Given the description of an element on the screen output the (x, y) to click on. 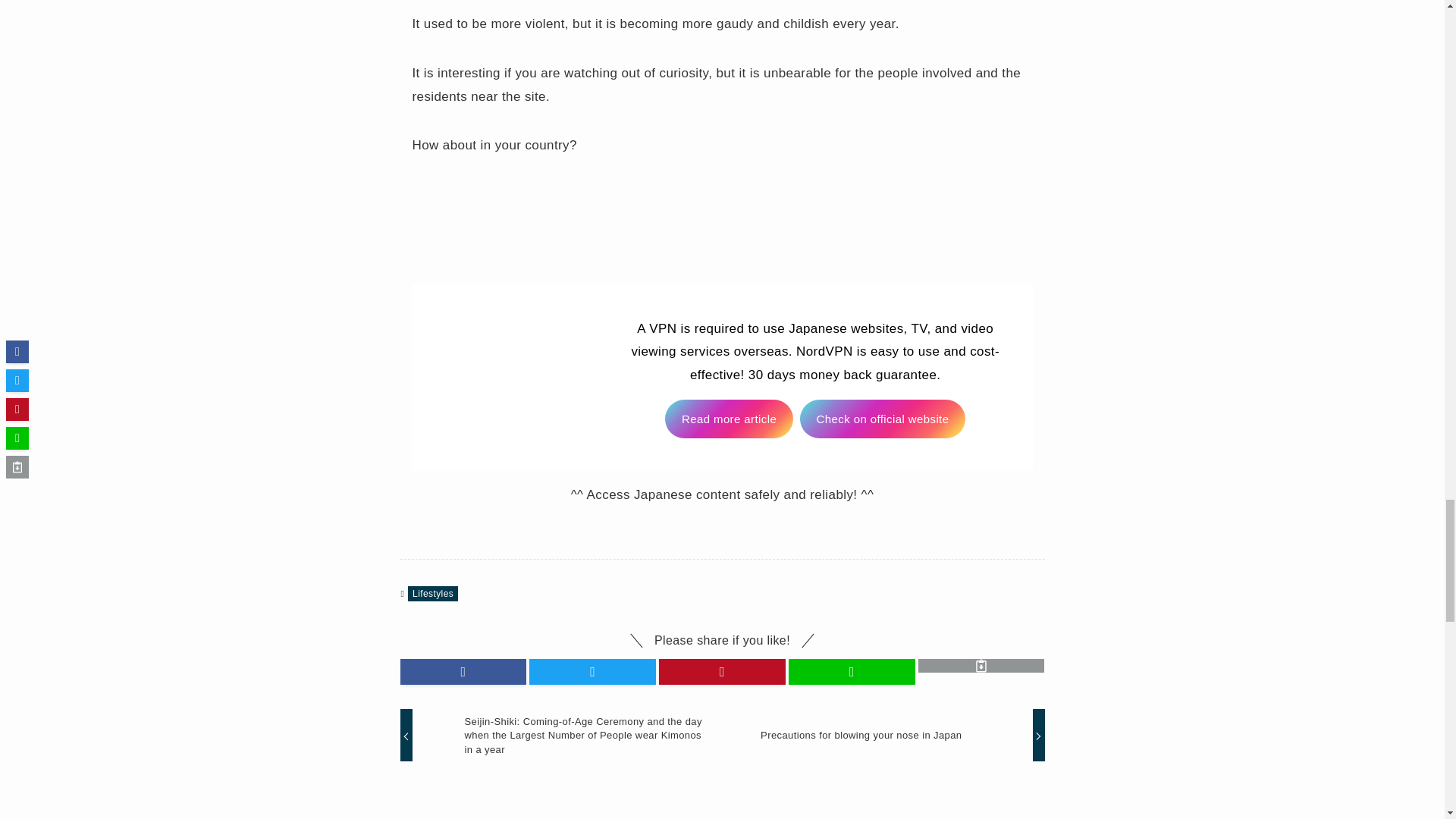
Read more article (729, 418)
Lifestyles (432, 593)
Check on official website (882, 418)
